Given the description of an element on the screen output the (x, y) to click on. 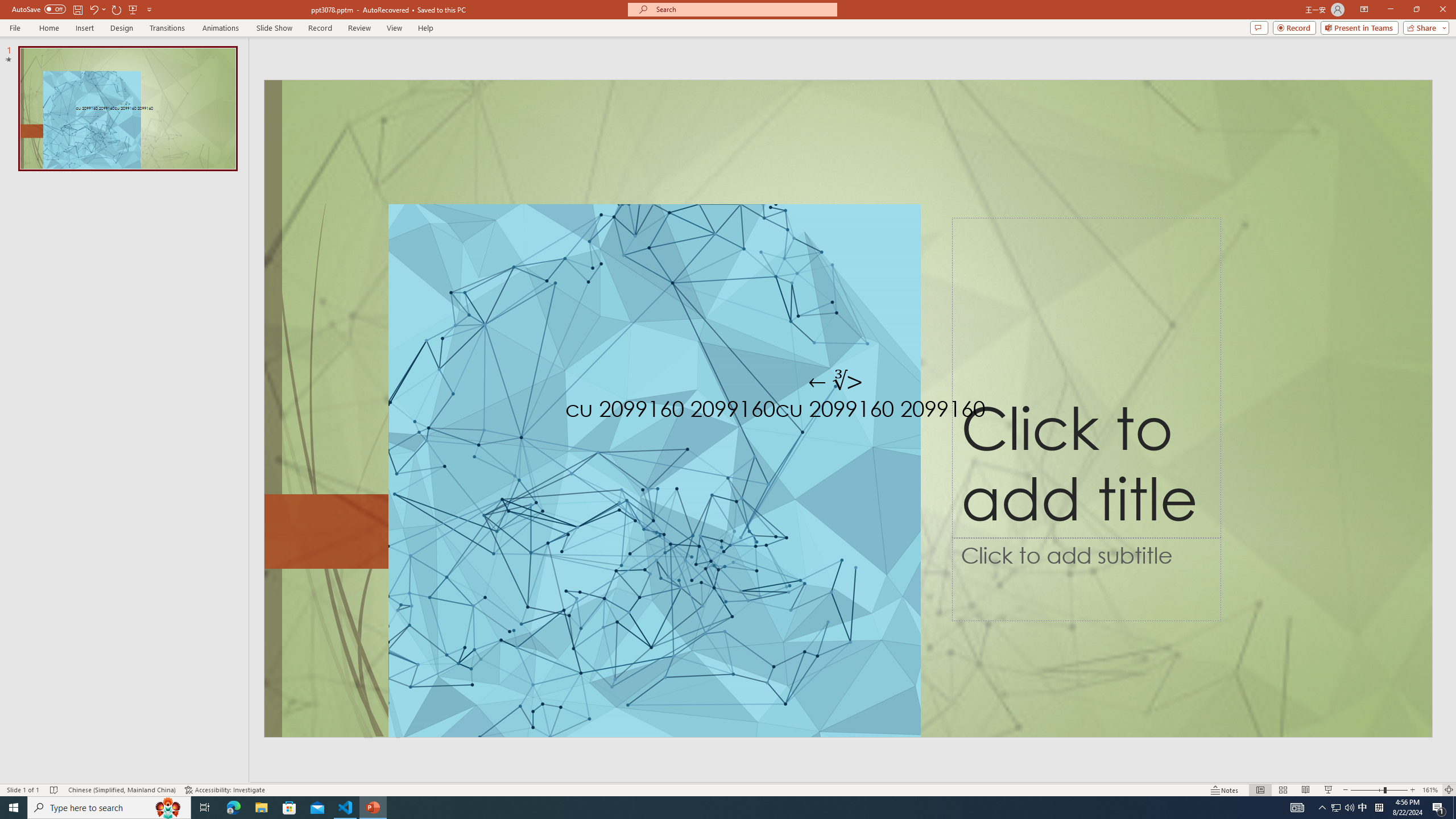
Microsoft search (742, 9)
Accessibility Checker Accessibility: Investigate (224, 790)
